Given the description of an element on the screen output the (x, y) to click on. 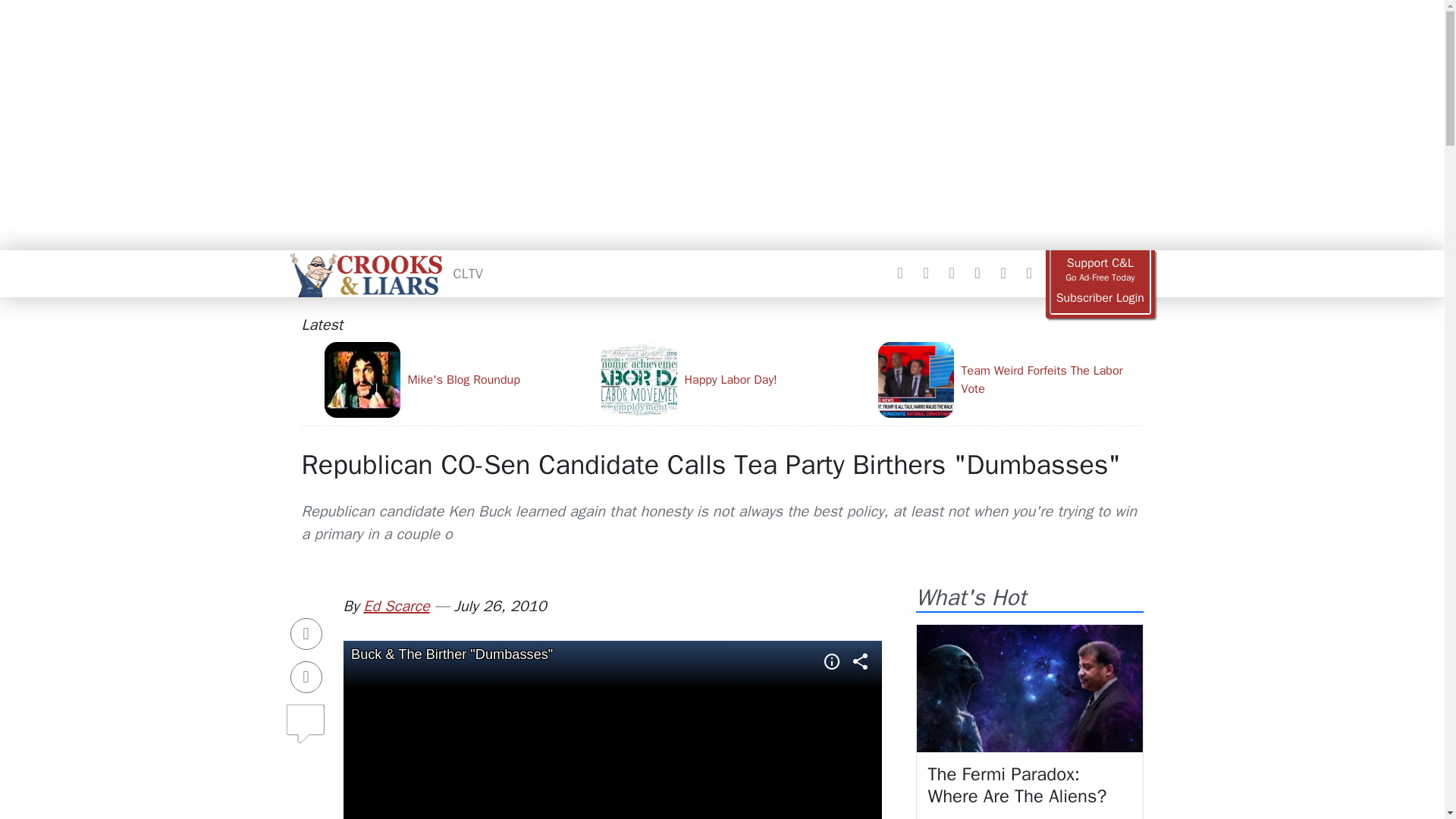
Comments (306, 717)
Subscriber Login (1099, 298)
Team Weird Forfeits The Labor Vote  (1009, 379)
Happy Labor Day! (732, 379)
Share on Facebook (306, 634)
Share on Twitter (306, 676)
Happy Labor Day! (732, 379)
Mike's Blog Roundup (456, 379)
Ed Scarce (395, 606)
Ed Scarce (395, 606)
